Given the description of an element on the screen output the (x, y) to click on. 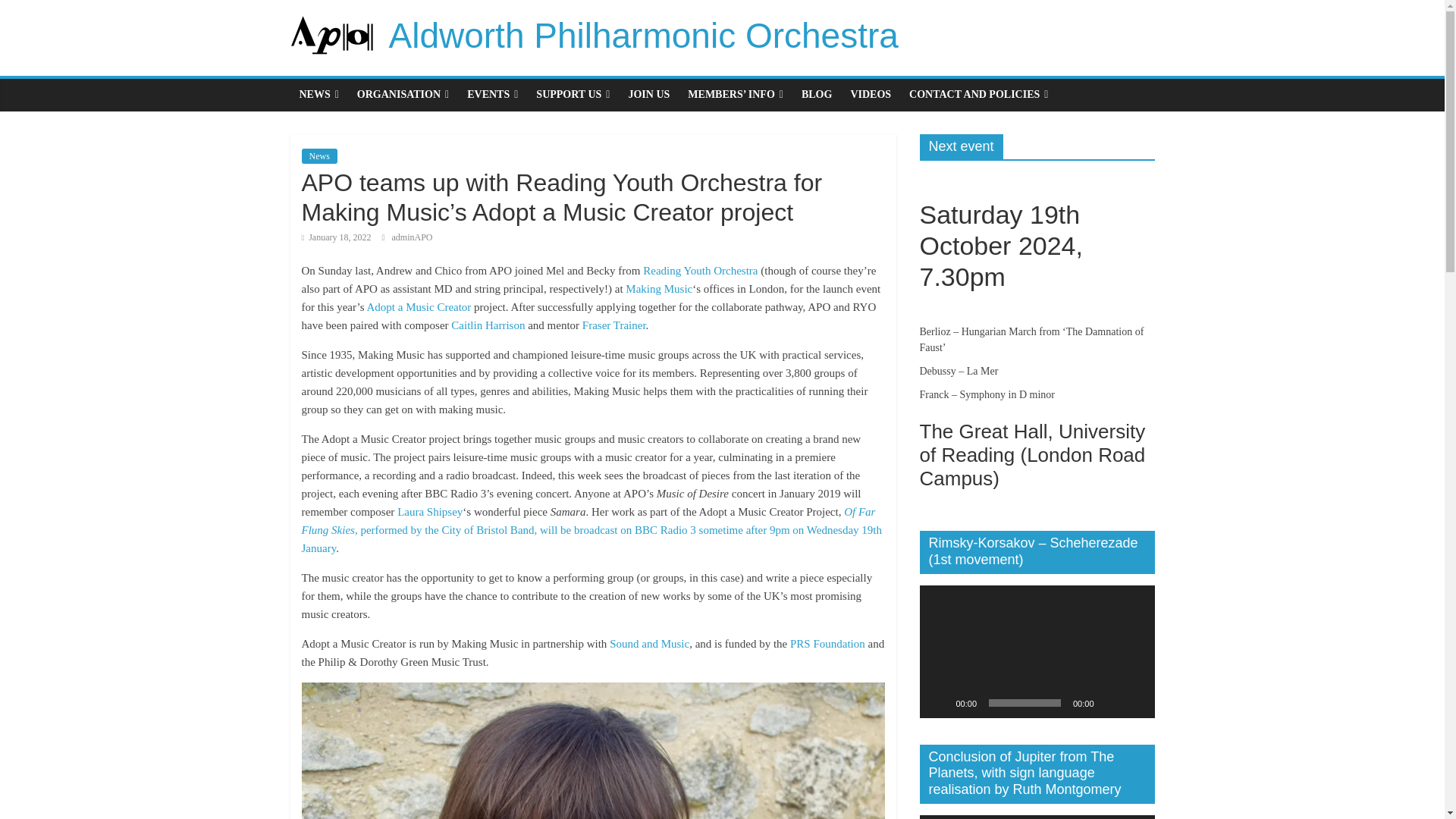
9:12 pm (336, 236)
Making Music (659, 288)
ORGANISATION (402, 94)
Reading Youth Orchestra (700, 270)
adminAPO (411, 236)
Aldworth Philharmonic Orchestra (643, 35)
VIDEOS (870, 94)
JOIN US (648, 94)
CONTACT AND POLICIES (978, 94)
SUPPORT US (572, 94)
adminAPO (411, 236)
EVENTS (492, 94)
Fullscreen (1133, 702)
BLOG (816, 94)
News (319, 155)
